Given the description of an element on the screen output the (x, y) to click on. 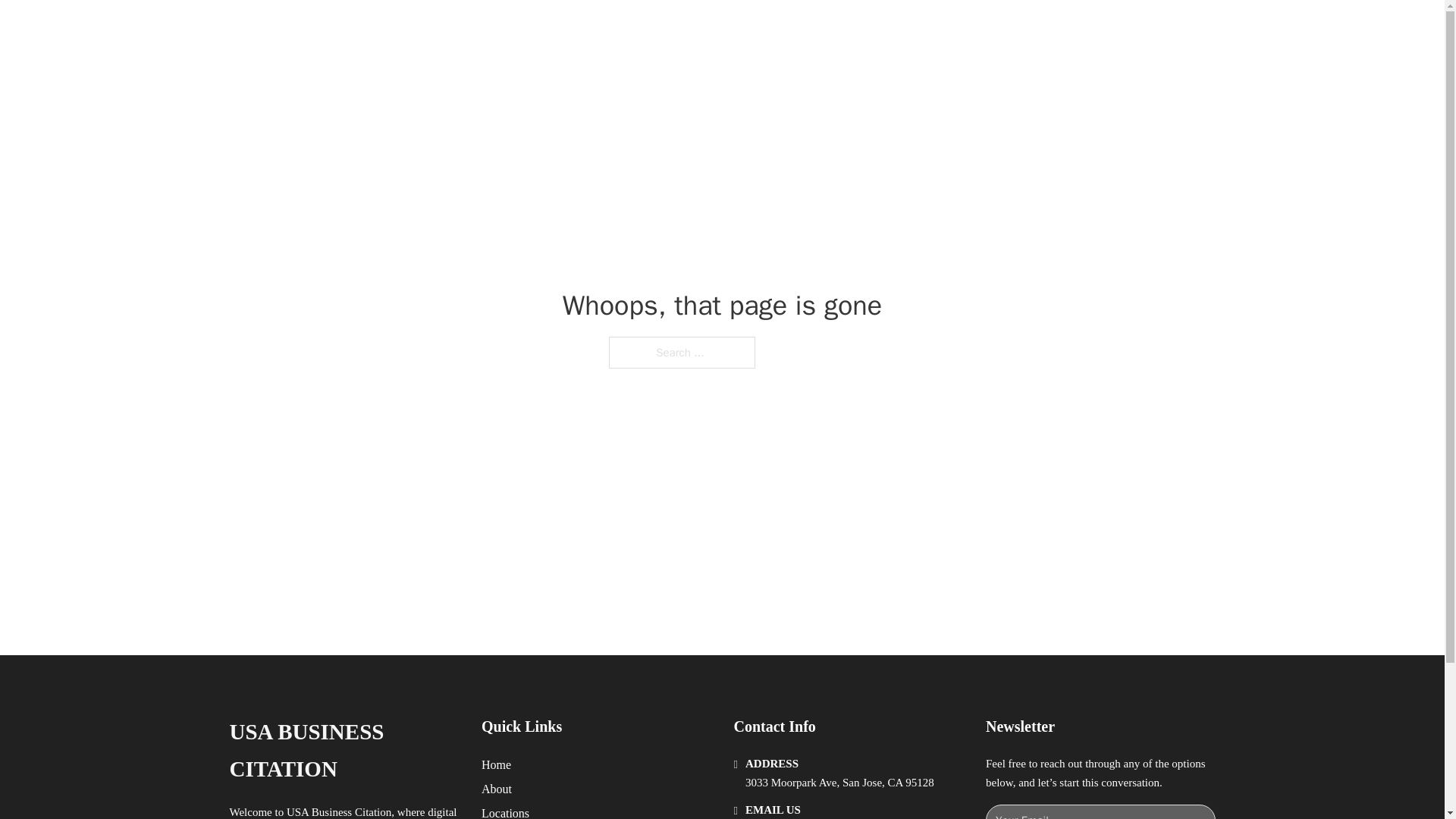
About (496, 788)
USA BUSINESS CITATION (343, 750)
Home (496, 764)
Locations (505, 811)
